Given the description of an element on the screen output the (x, y) to click on. 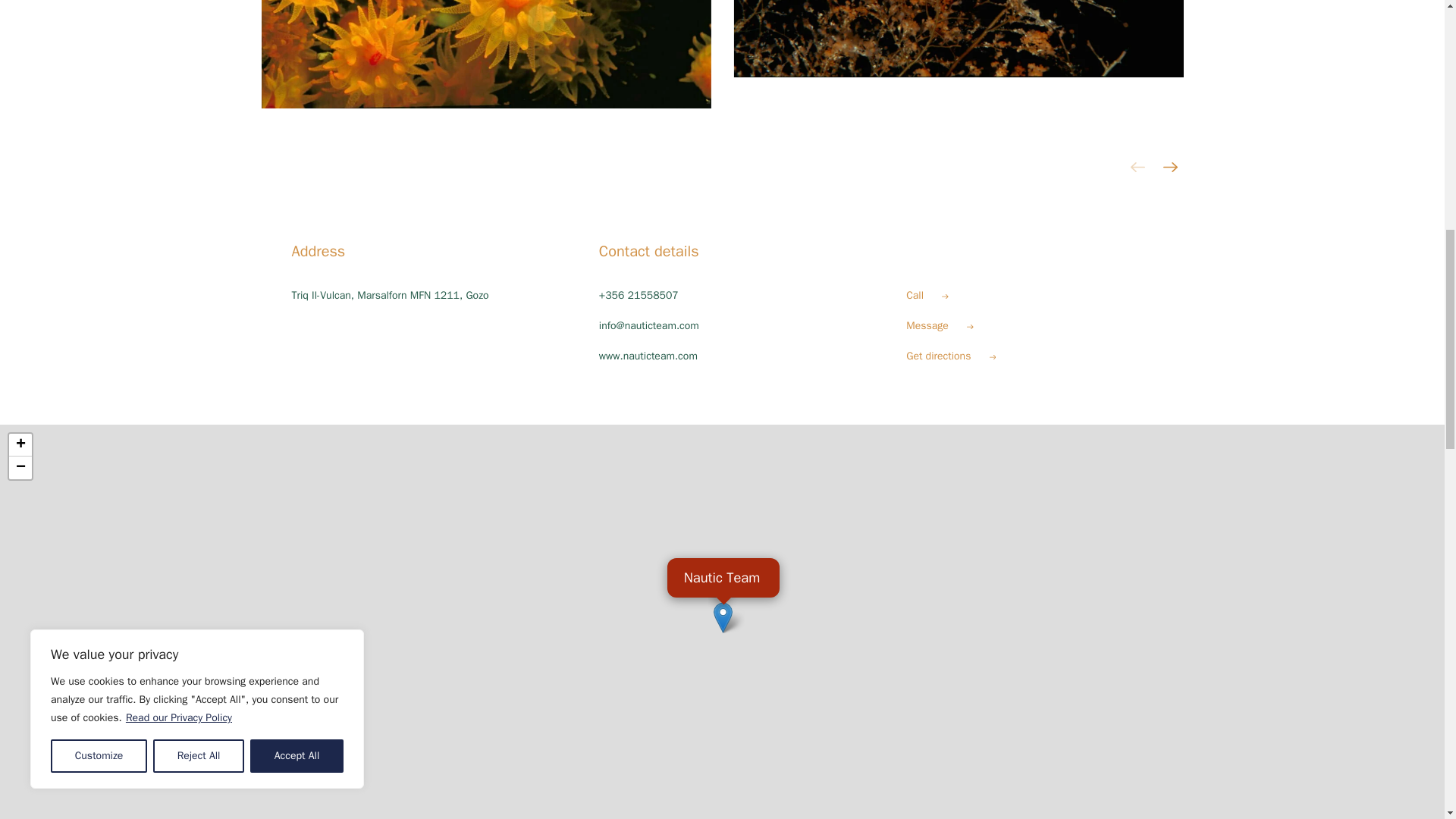
Zoom in (20, 445)
Zoom out (20, 467)
